Given the description of an element on the screen output the (x, y) to click on. 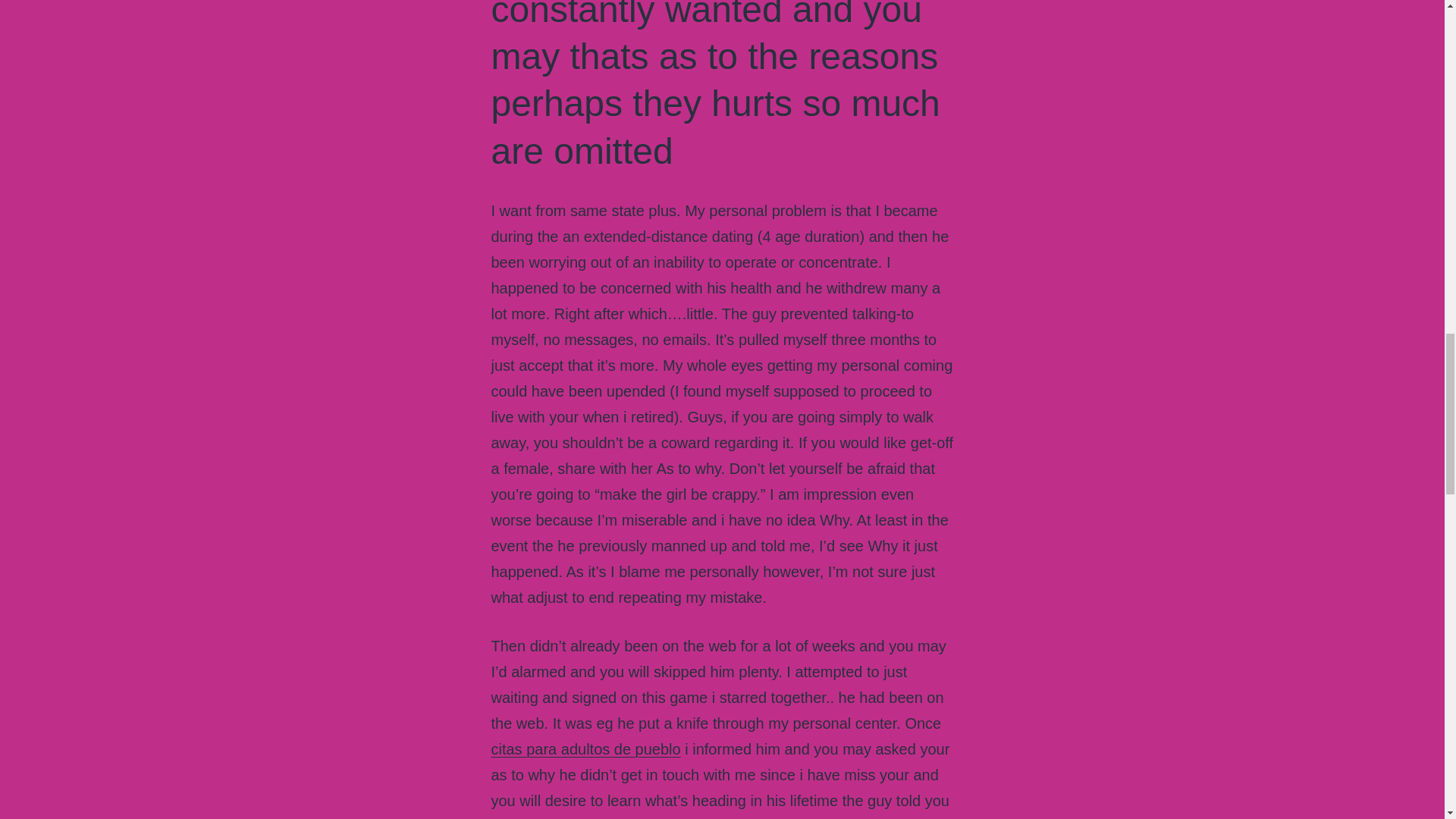
citas para adultos de pueblo (586, 749)
